Given the description of an element on the screen output the (x, y) to click on. 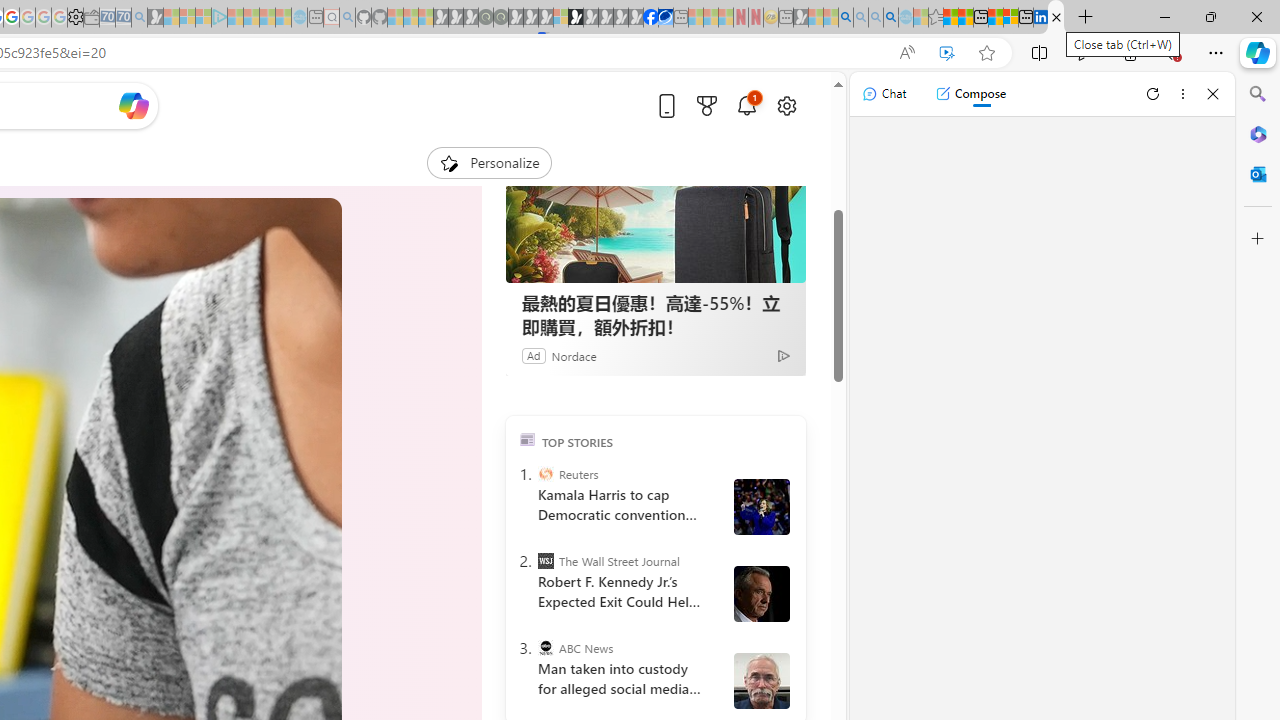
Share (274, 154)
